Given the description of an element on the screen output the (x, y) to click on. 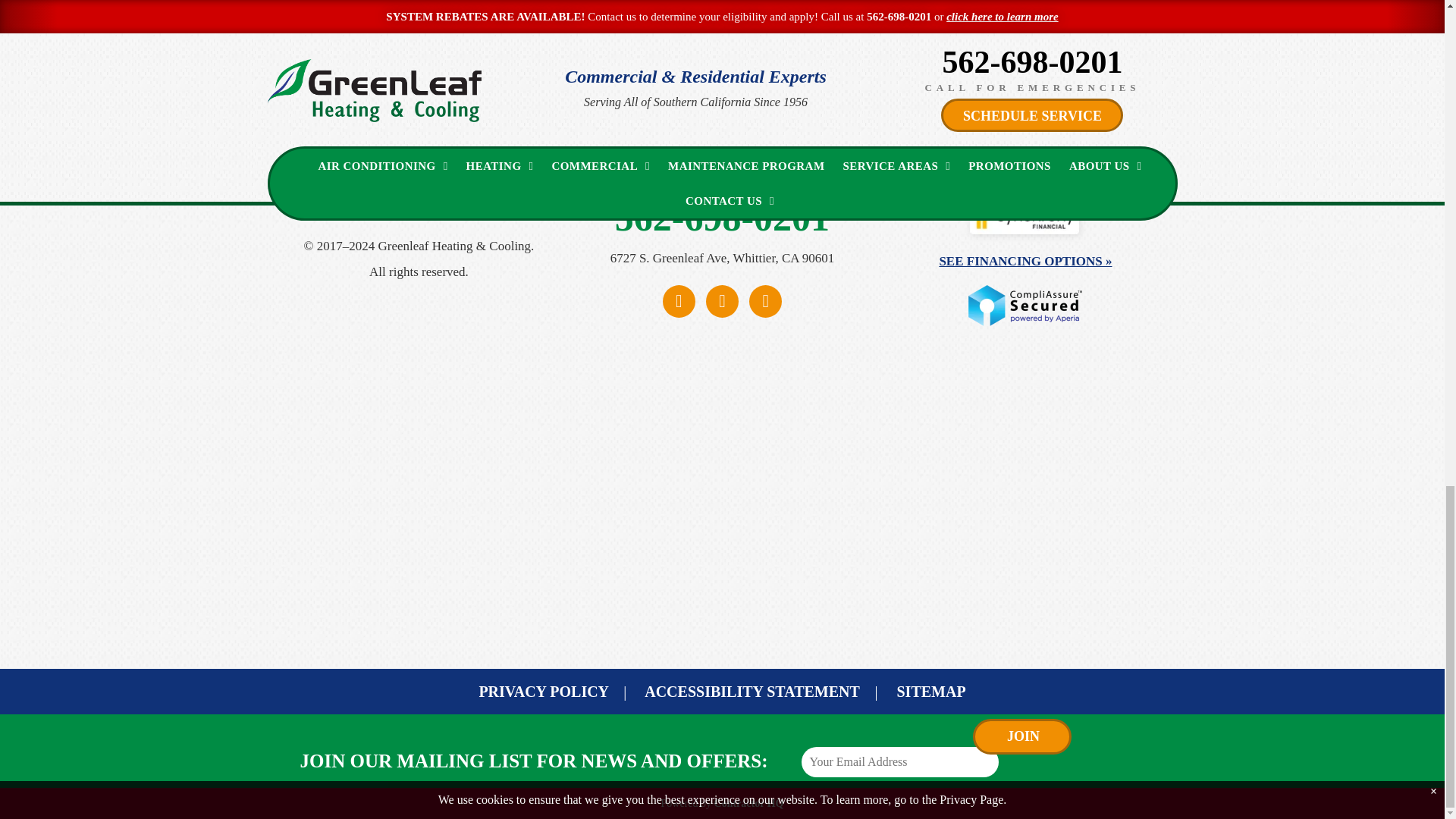
JOIN (1023, 736)
